Given the description of an element on the screen output the (x, y) to click on. 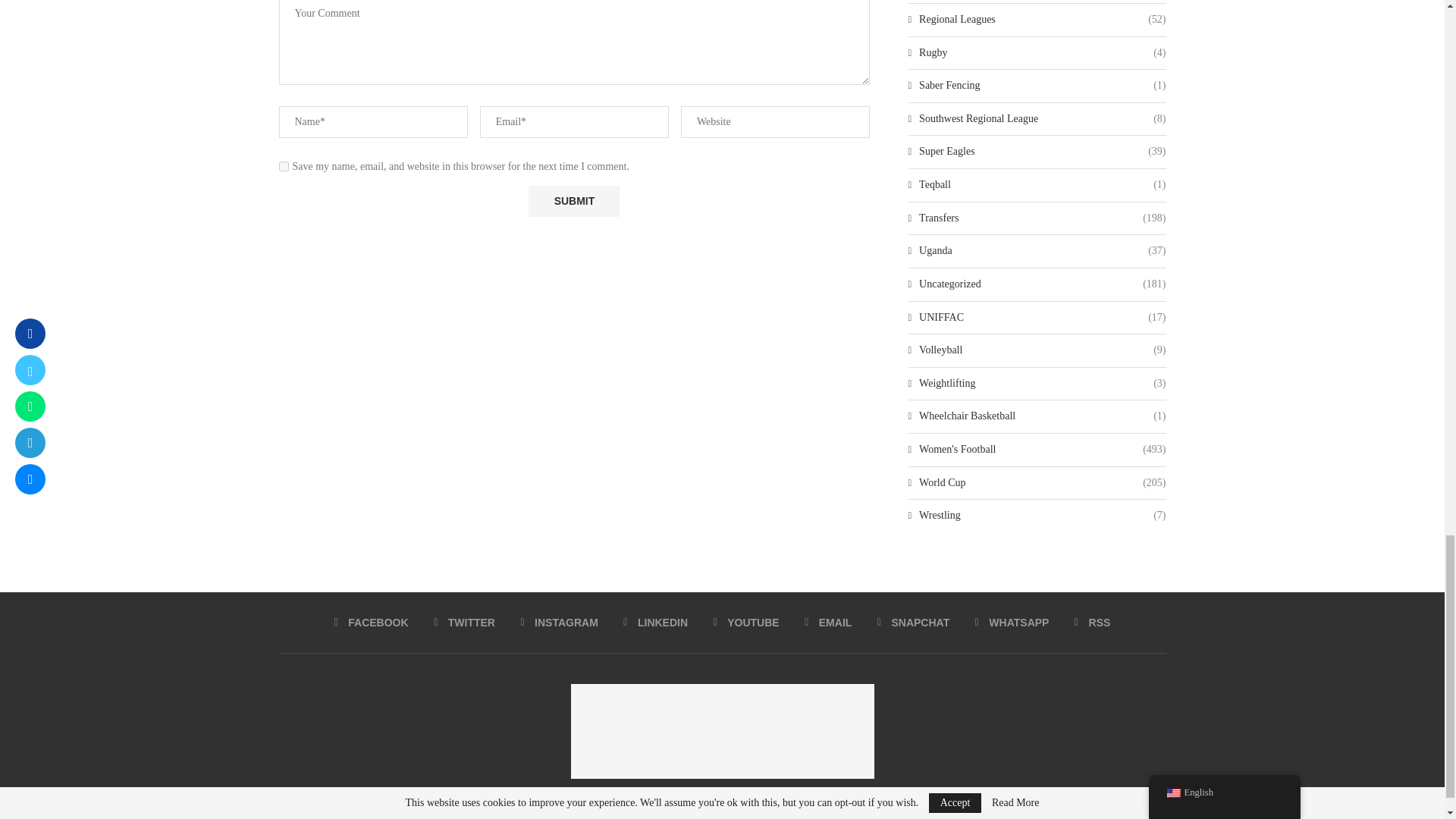
Submit (574, 201)
yes (283, 166)
